Given the description of an element on the screen output the (x, y) to click on. 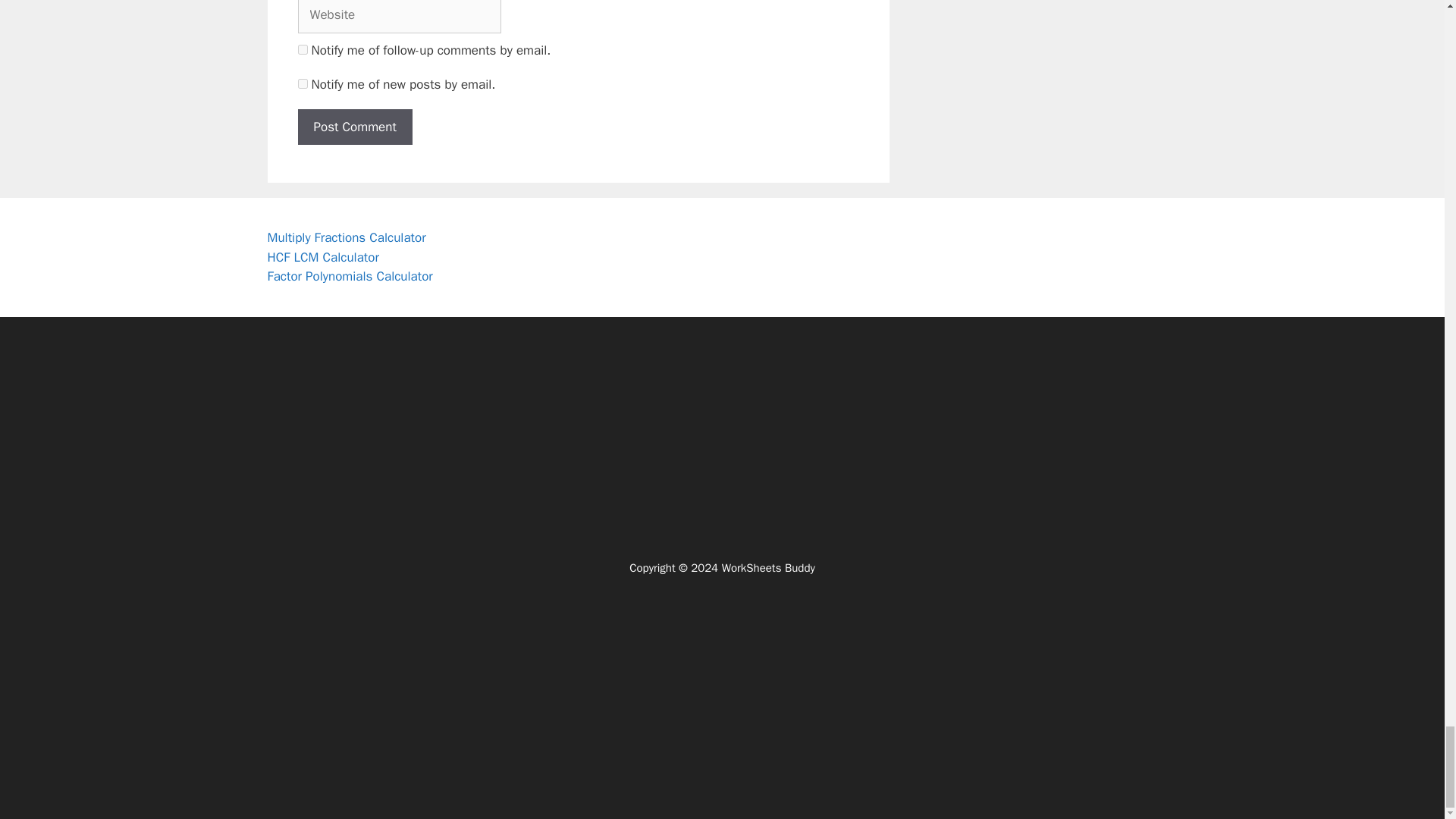
subscribe (302, 83)
Post Comment (354, 126)
subscribe (302, 49)
Post Comment (354, 126)
